Given the description of an element on the screen output the (x, y) to click on. 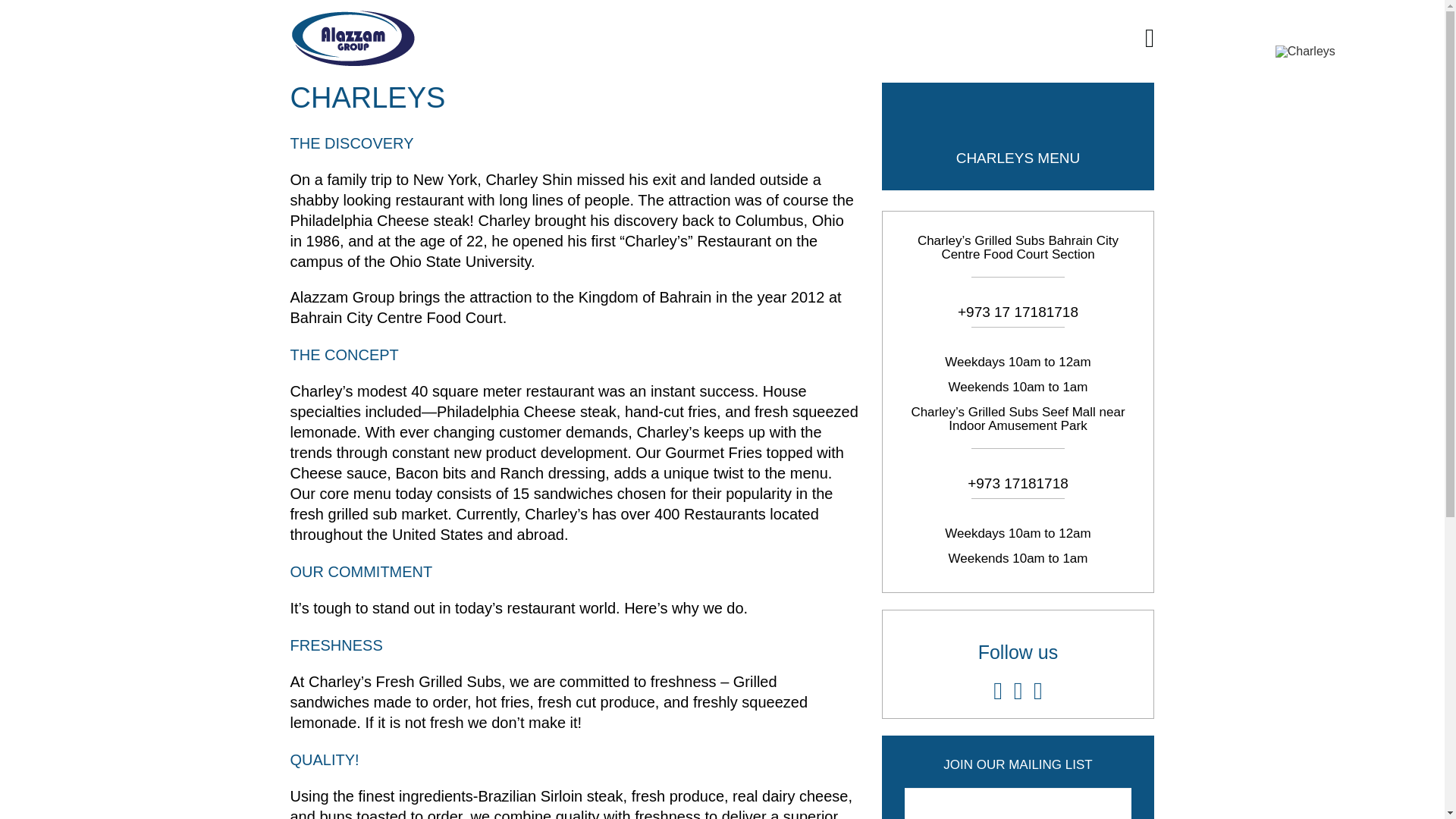
Subscribe (147, 14)
CHARLEYS MENU (1017, 157)
